Given the description of an element on the screen output the (x, y) to click on. 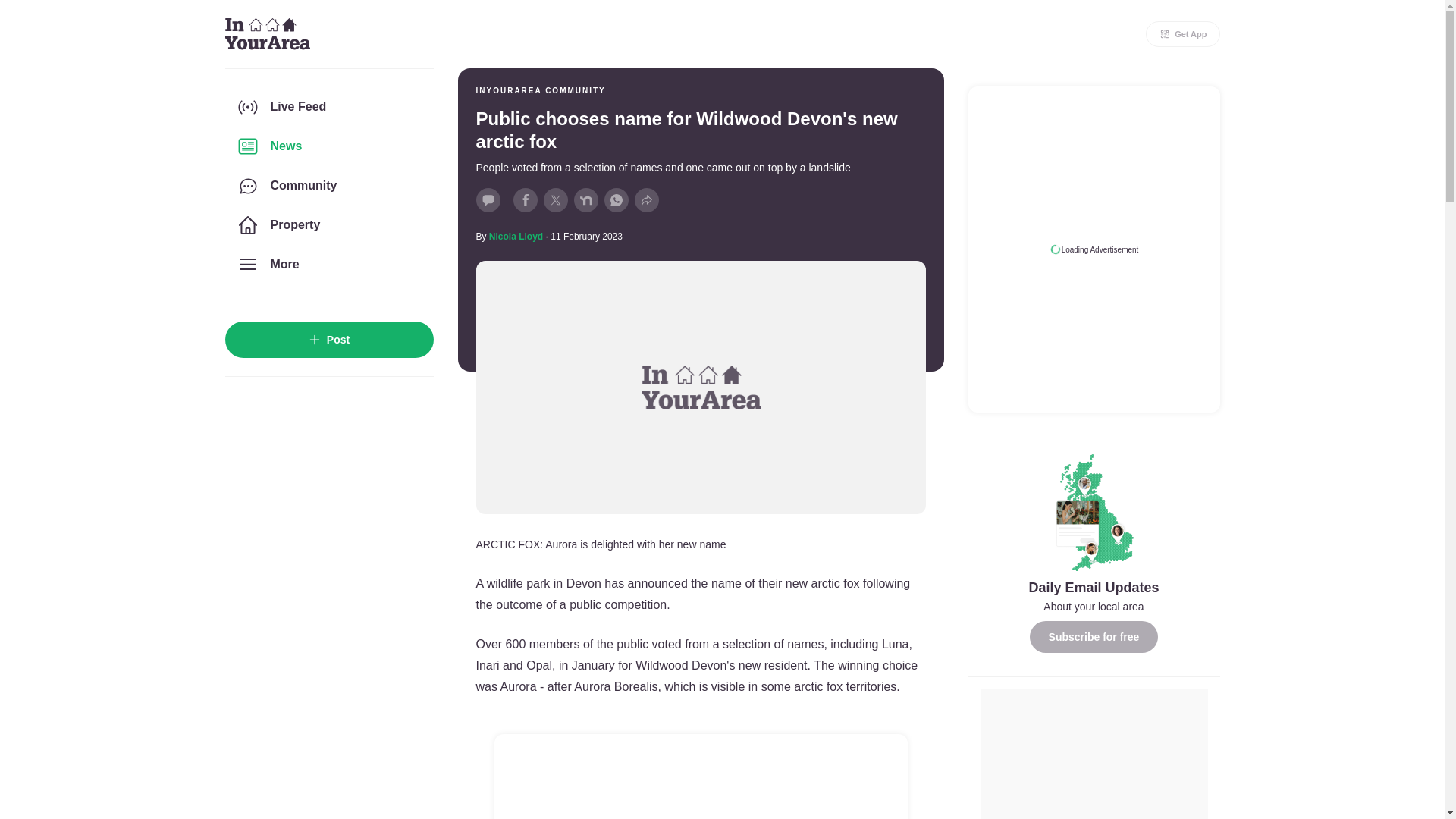
Share to ... (645, 200)
Social Button (488, 200)
INYOURAREA COMMUNITY (540, 90)
Property (328, 224)
Get App (1182, 33)
Share to Facebook (524, 200)
Community (328, 185)
Get App (1182, 33)
Share to X (555, 200)
Live Feed (328, 106)
Share to Whatsapp (615, 200)
Share to Nextdoor (584, 200)
Post (328, 339)
News (328, 146)
